Given the description of an element on the screen output the (x, y) to click on. 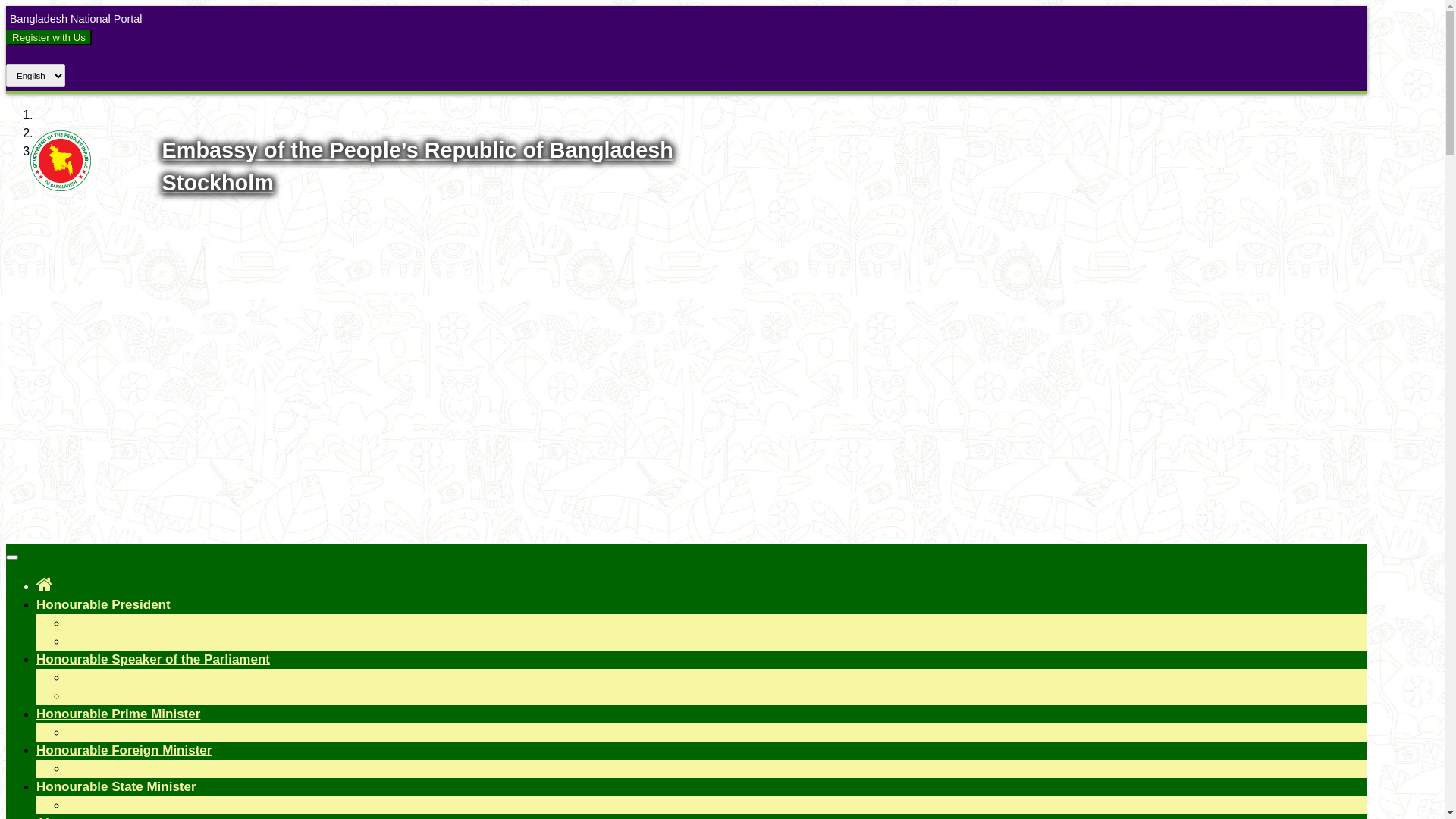
Logo Element type: hover (60, 186)
Honourable State Minister Element type: text (116, 786)
Home Element type: hover (44, 584)
Honourable Foreign Minister Element type: text (123, 750)
Honourable Speaker of the Parliament Element type: text (152, 659)
Honourable Prime Minister Element type: text (118, 713)
Register with Us Element type: text (48, 37)
Register with Us Element type: text (48, 37)
Bangladesh National Portal Element type: text (73, 18)
Honourable President Element type: text (103, 604)
